Given the description of an element on the screen output the (x, y) to click on. 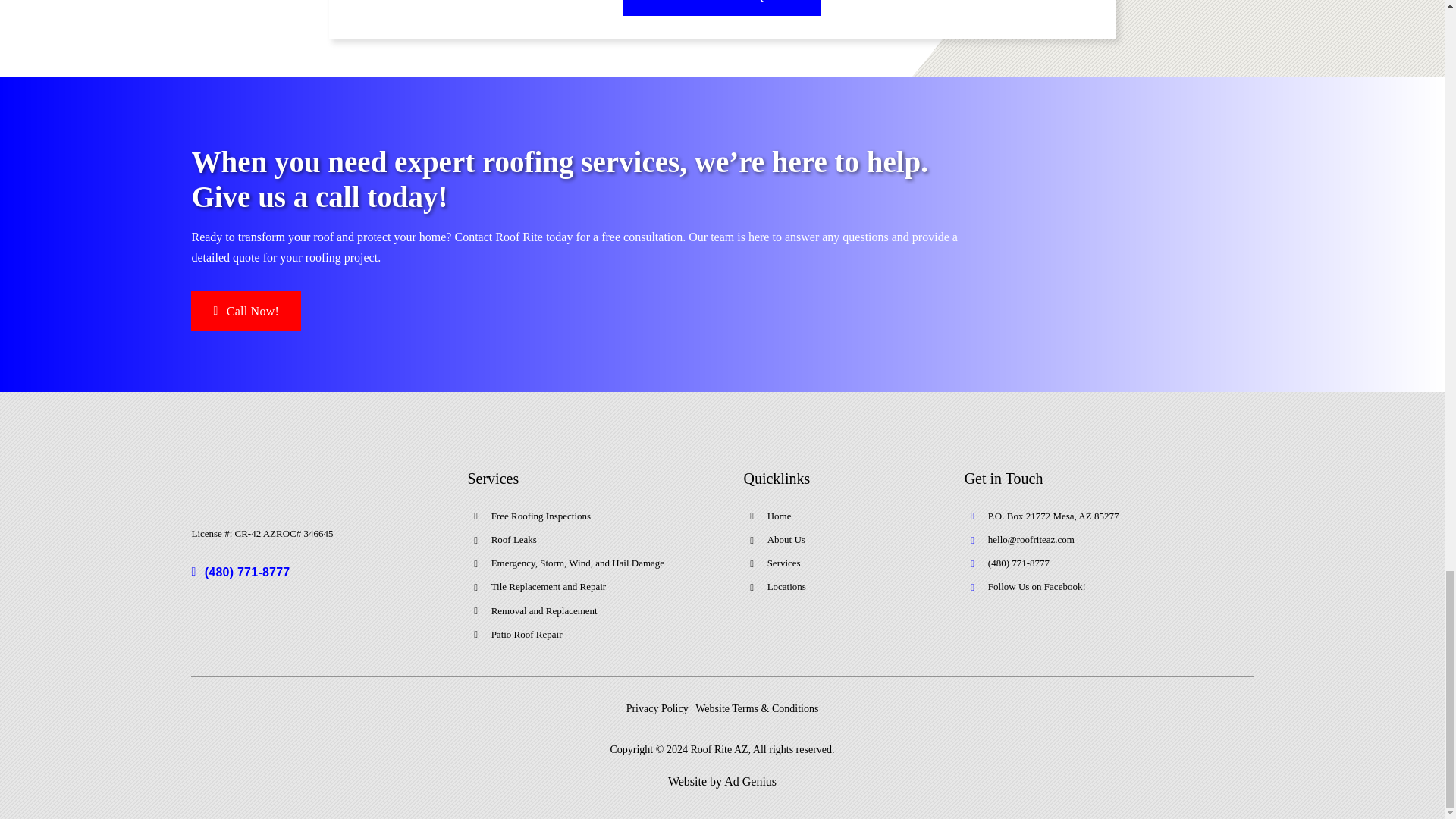
Emergency, Storm, Wind, and Hail Damage (577, 562)
Tile Replacement and Repair (549, 586)
Home (779, 515)
Patio Roof Repair (527, 633)
About Us (786, 539)
Free Roofing Inspections (541, 515)
Click Here for a Free Quote (722, 7)
346645 (317, 532)
Call Now! (245, 311)
Removal and Replacement (544, 610)
